Given the description of an element on the screen output the (x, y) to click on. 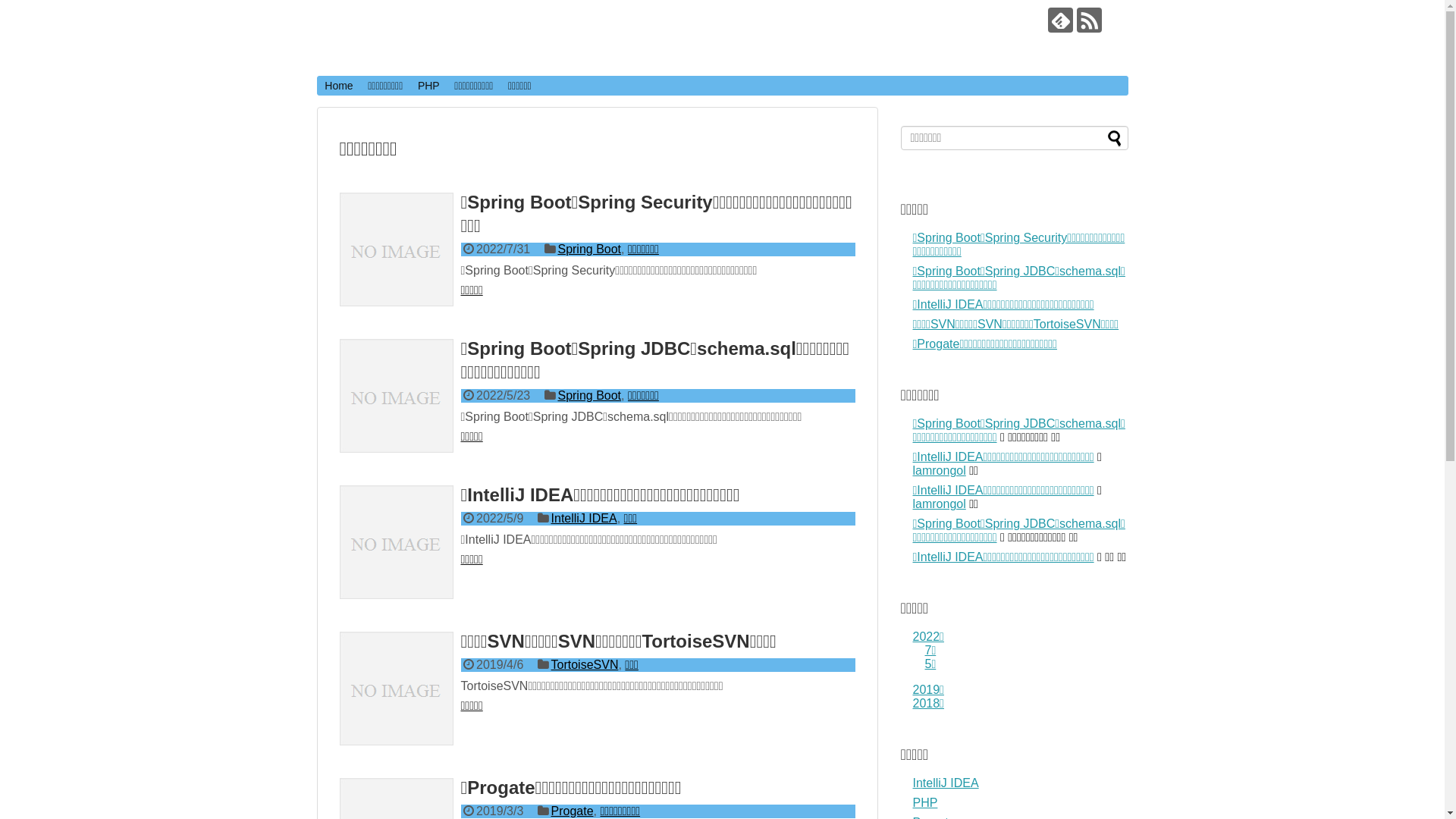
PHP Element type: text (428, 85)
lamrongol Element type: text (939, 503)
IntelliJ IDEA Element type: text (584, 517)
IntelliJ IDEA Element type: text (946, 782)
Spring Boot Element type: text (589, 395)
PHP Element type: text (925, 802)
Spring Boot Element type: text (589, 248)
Home Element type: text (338, 85)
TortoiseSVN Element type: text (584, 664)
Progate Element type: text (572, 810)
lamrongol Element type: text (939, 470)
